Given the description of an element on the screen output the (x, y) to click on. 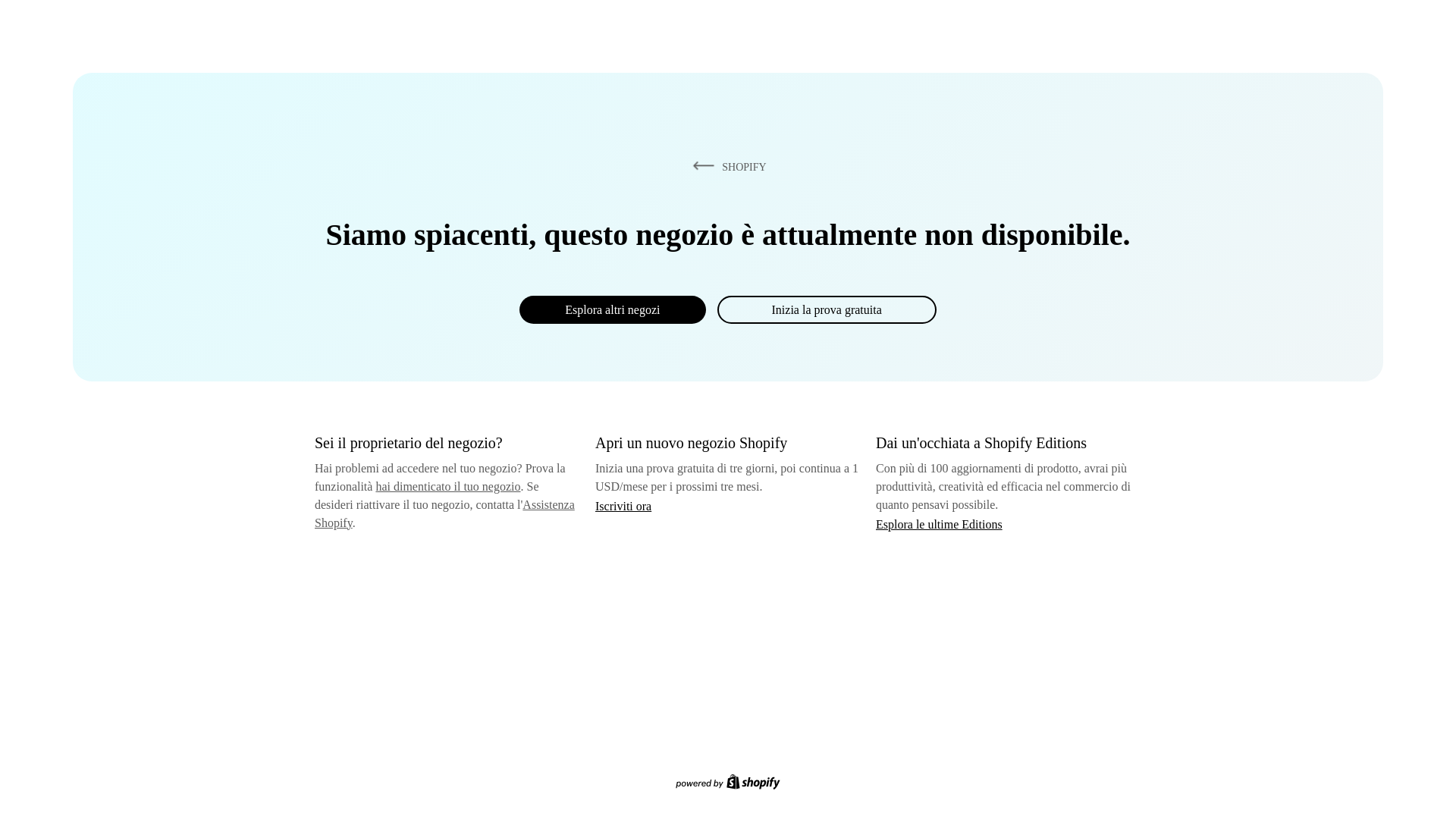
Assistenza Shopify (444, 513)
Esplora altri negozi (611, 309)
SHOPIFY (726, 166)
hai dimenticato il tuo negozio (447, 486)
Inizia la prova gratuita (826, 309)
Iscriviti ora (622, 505)
Esplora le ultime Editions (939, 523)
